Given the description of an element on the screen output the (x, y) to click on. 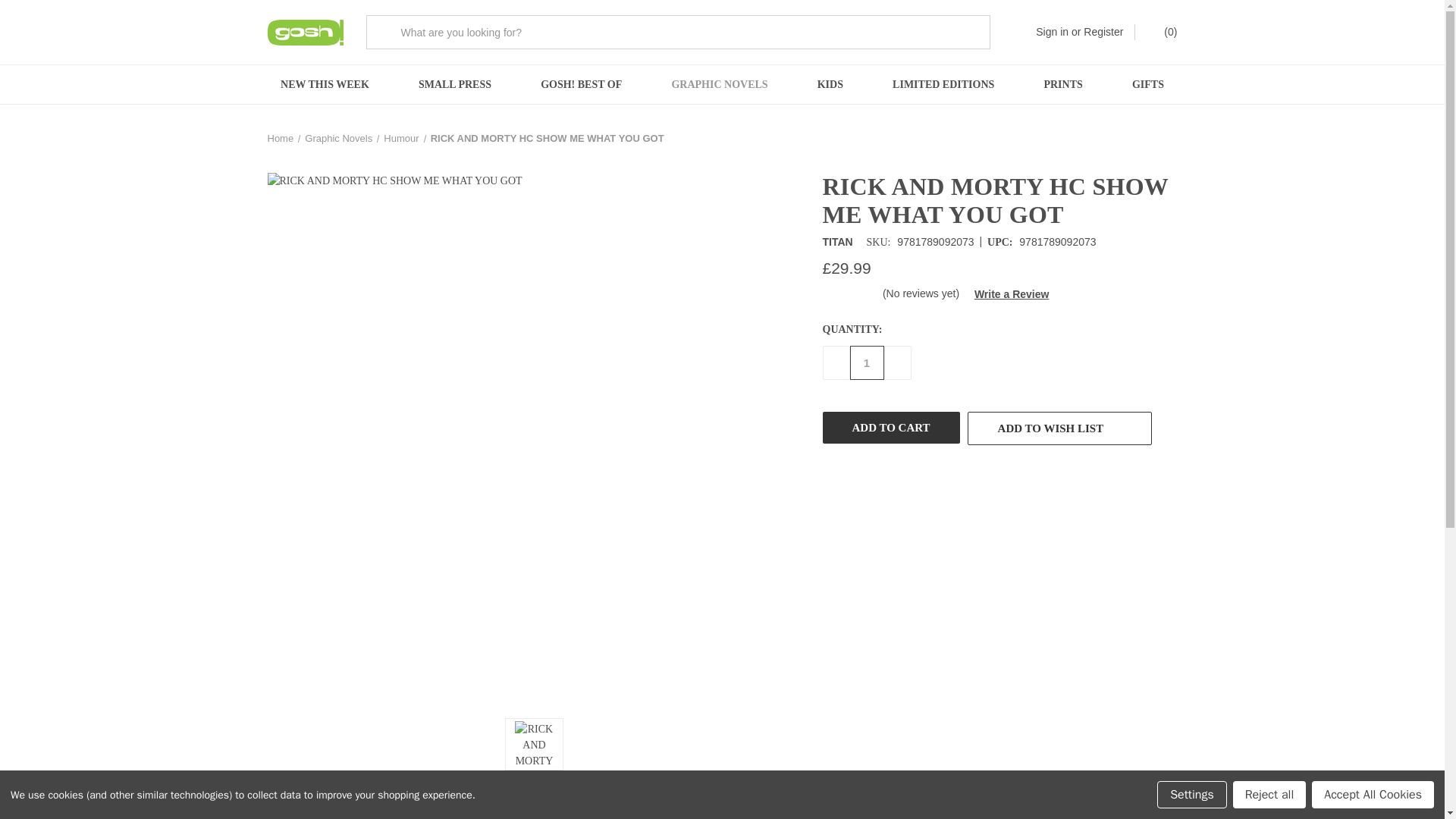
GOSH! BEST OF (581, 84)
Register (1102, 32)
Sign in (1051, 32)
NEW THIS WEEK (325, 84)
Add to Cart (890, 427)
GRAPHIC NOVELS (719, 84)
SMALL PRESS (454, 84)
Gosh! Comics (304, 32)
1 (865, 362)
